Given the description of an element on the screen output the (x, y) to click on. 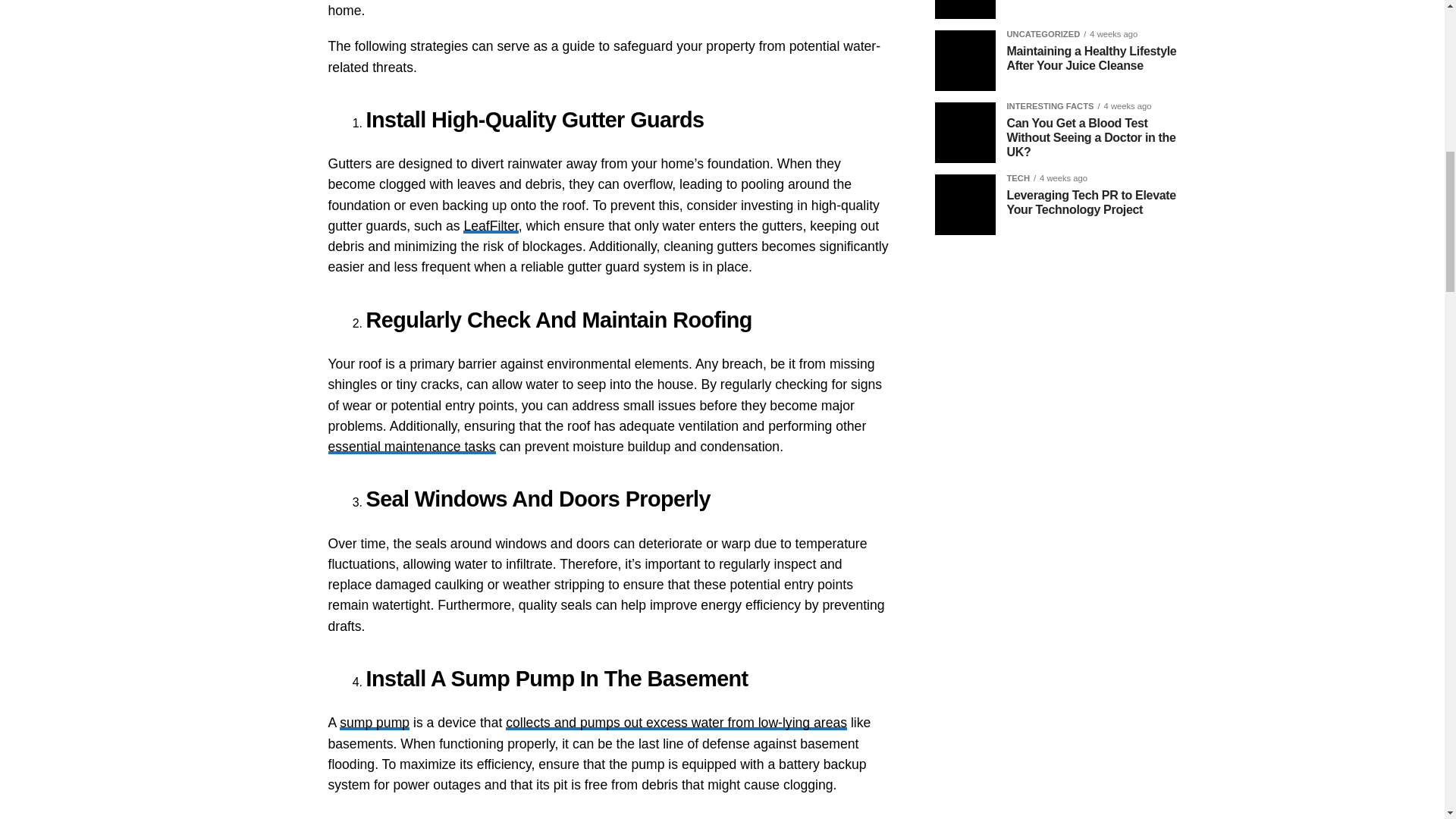
LeafFilter (490, 225)
